Given the description of an element on the screen output the (x, y) to click on. 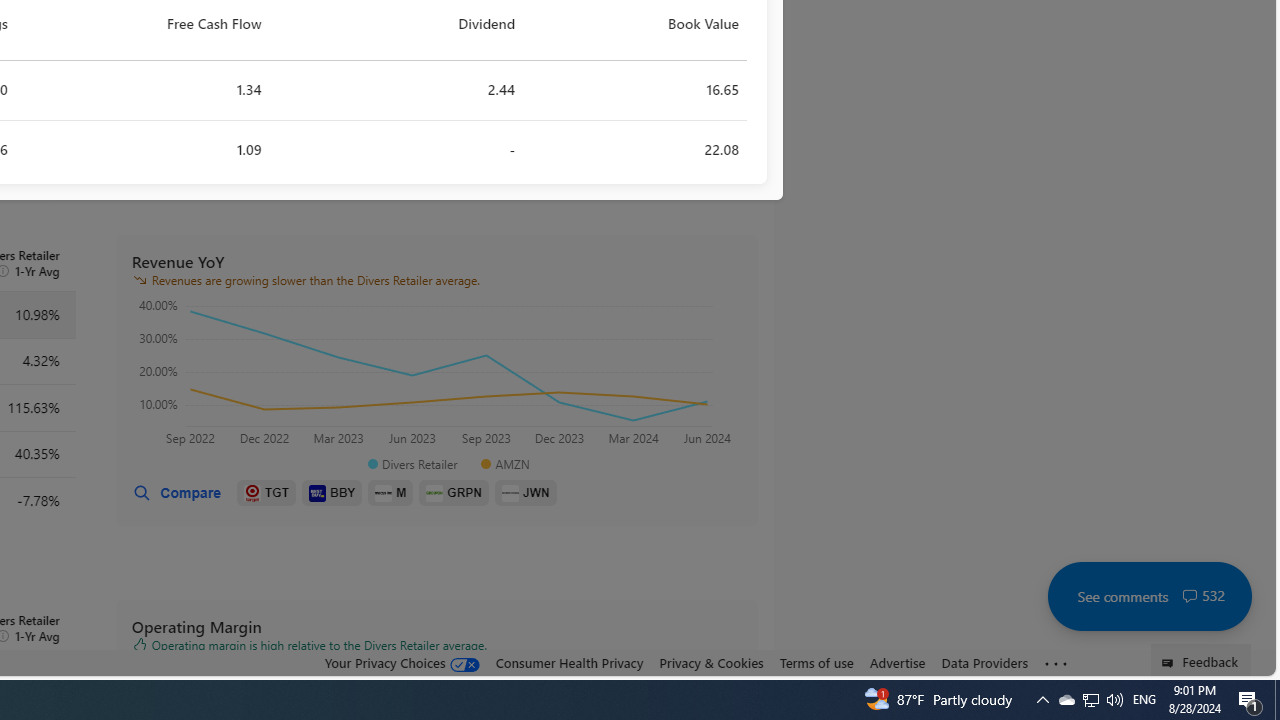
See comments 532 (1149, 596)
M (390, 493)
Class: imagIcon-DS-EntryPoint1-1 (510, 492)
TGT (265, 493)
See more (1055, 664)
GRPN (454, 493)
Your Privacy Choices (401, 662)
Advertise (897, 662)
Compare (175, 493)
Data Providers (983, 663)
Advertise (897, 663)
Privacy & Cookies (711, 663)
Class: feedback_link_icon-DS-EntryPoint1-1 (1170, 663)
Class: react-financial-charts (436, 375)
